Given the description of an element on the screen output the (x, y) to click on. 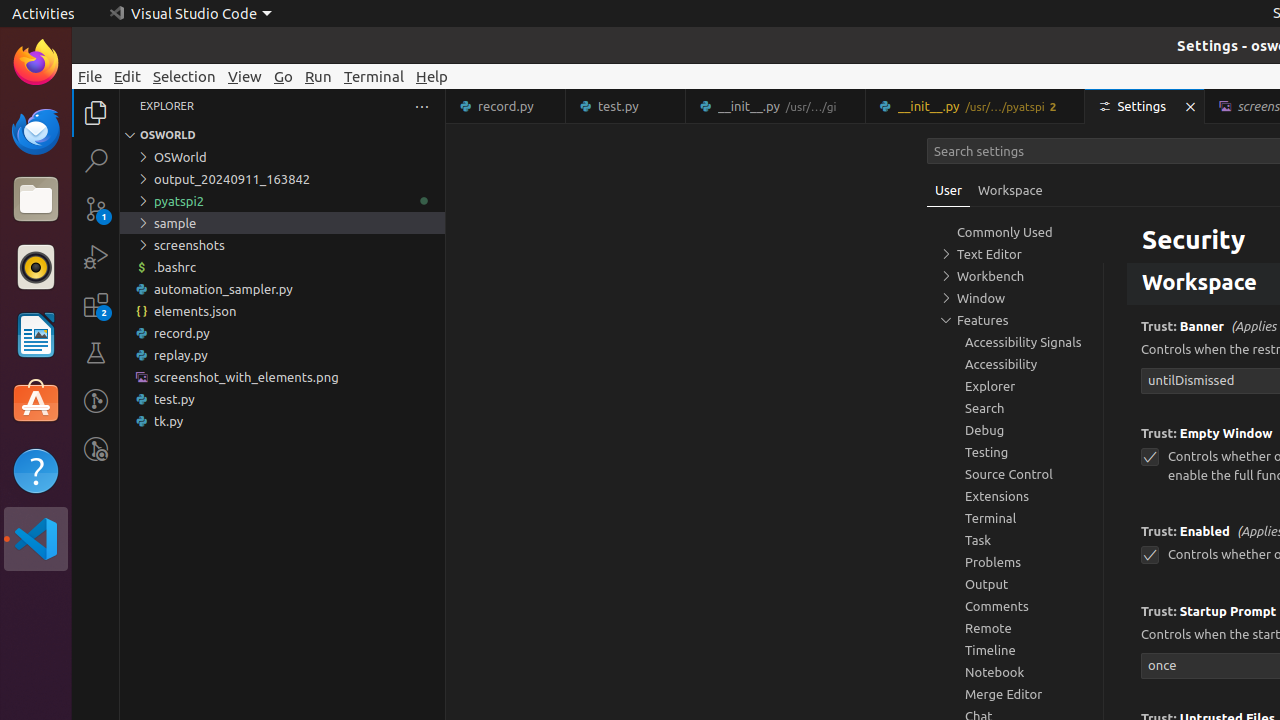
Problems, group Element type: tree-item (1015, 562)
screenshot_with_elements.png Element type: tree-item (282, 377)
Go Element type: push-button (283, 76)
GitLens Inspect Element type: page-tab (96, 449)
